Given the description of an element on the screen output the (x, y) to click on. 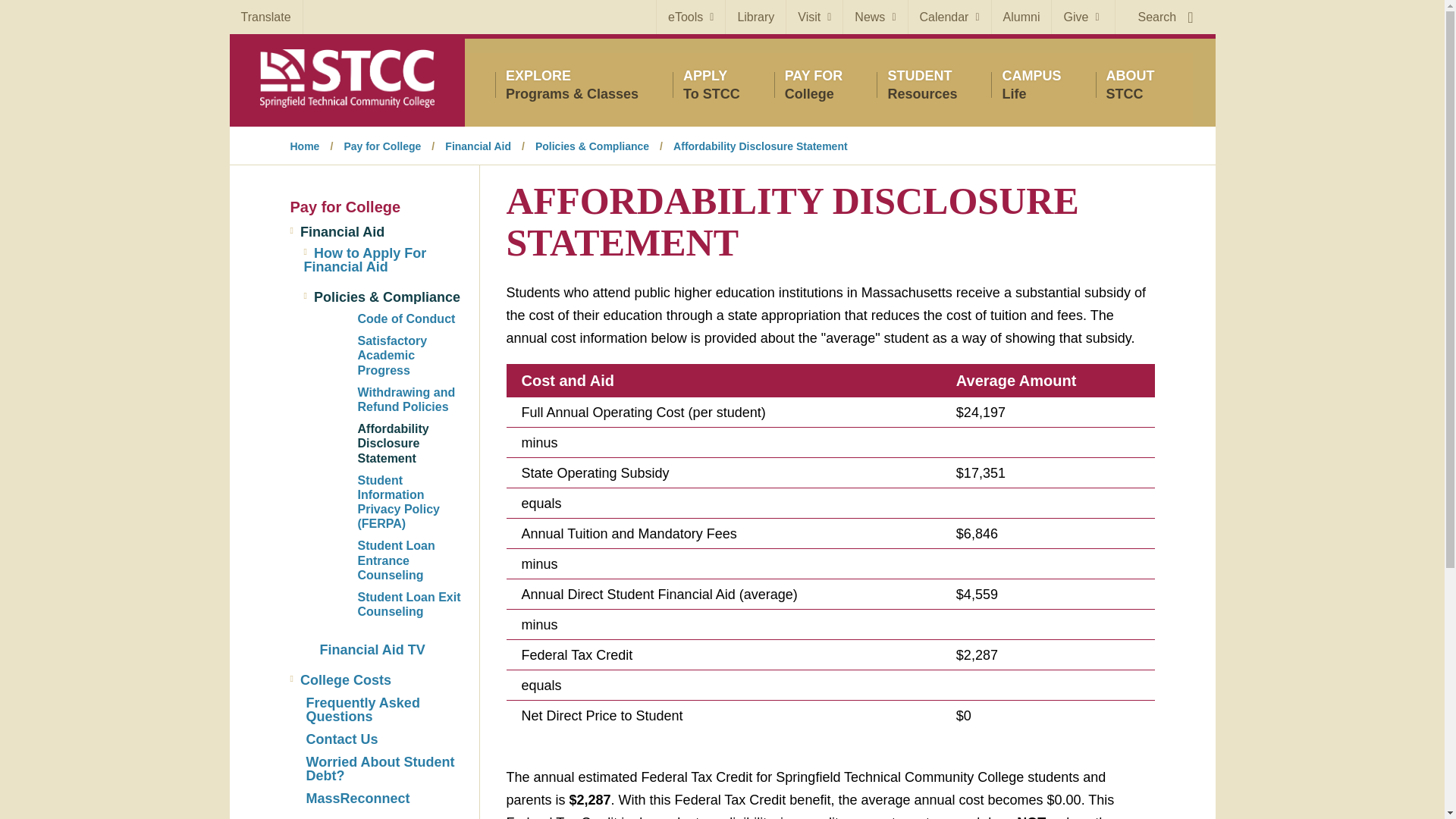
Translate (264, 17)
Opener (690, 17)
Opener (710, 84)
Opener (303, 249)
Opener (921, 84)
Opener (814, 17)
